Given the description of an element on the screen output the (x, y) to click on. 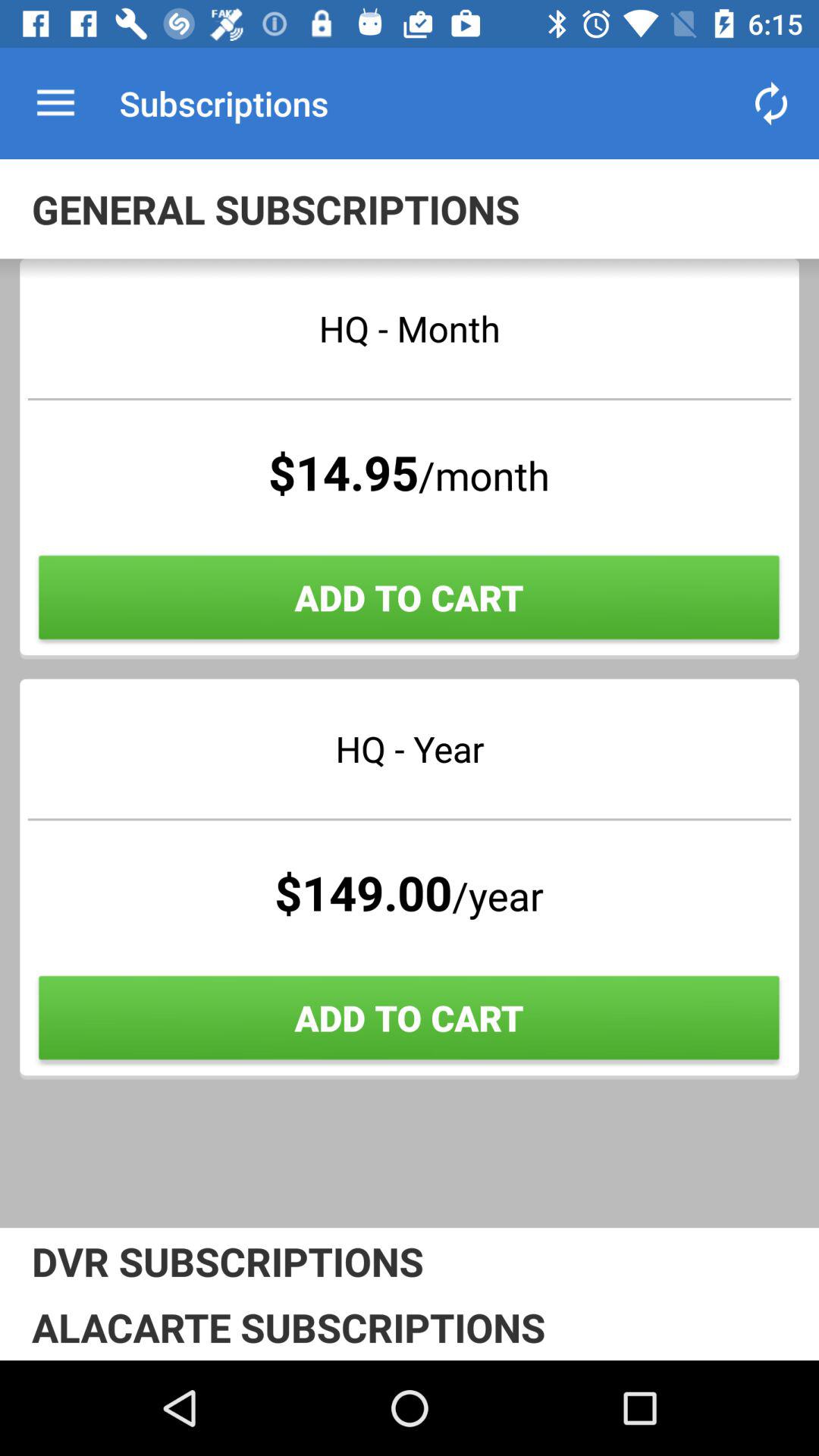
choose the app next to subscriptions app (55, 103)
